Given the description of an element on the screen output the (x, y) to click on. 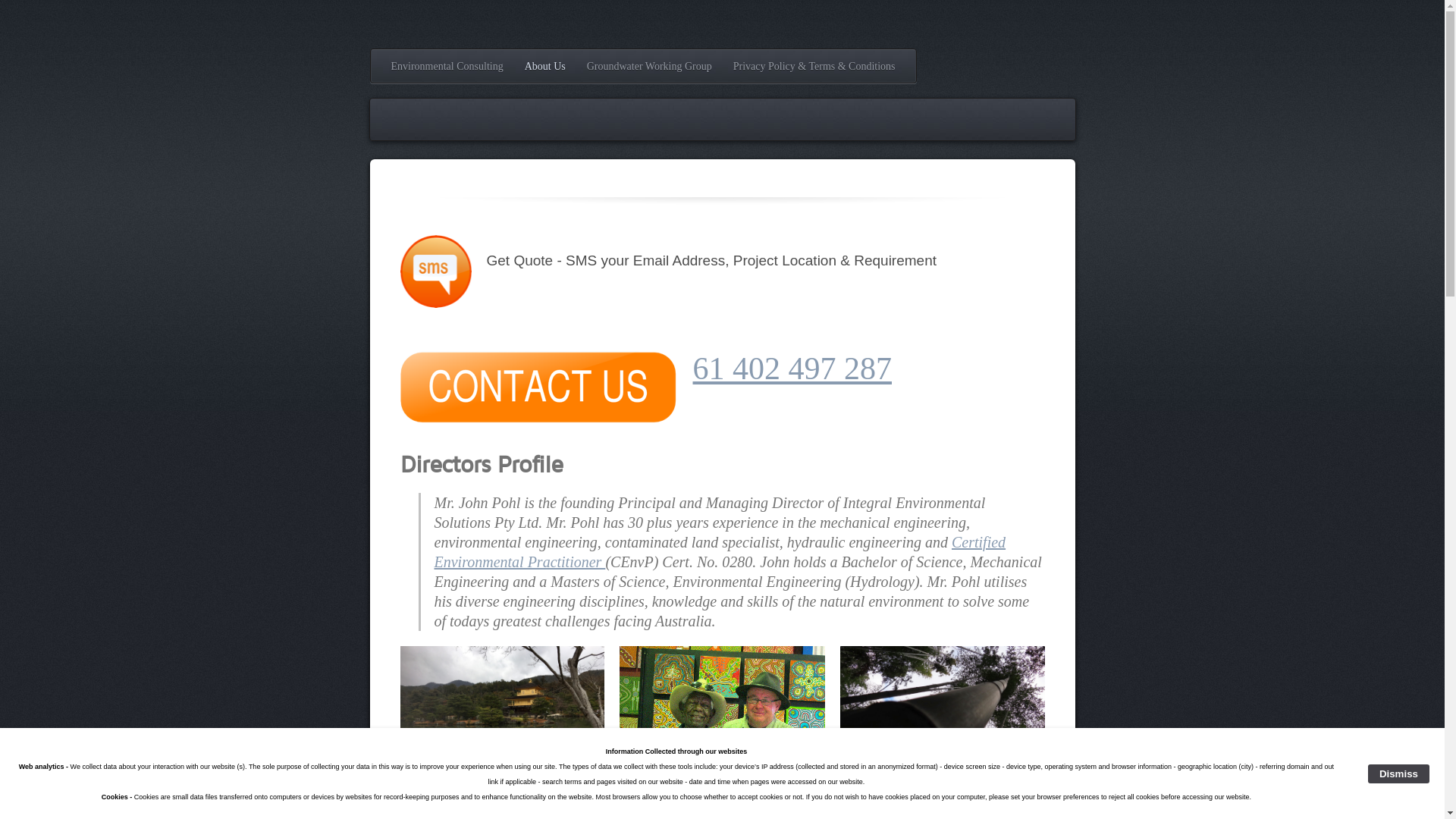
61 402 497 287 Element type: text (792, 368)
Environmental Consulting Element type: text (447, 66)
Privacy Policy & Terms & Conditions Element type: text (814, 66)
About Us Element type: text (545, 66)
Certified Environmental Practitioner Element type: text (719, 551)
Dismiss Element type: text (1398, 773)
Groundwater Working Group Element type: text (649, 66)
